Given the description of an element on the screen output the (x, y) to click on. 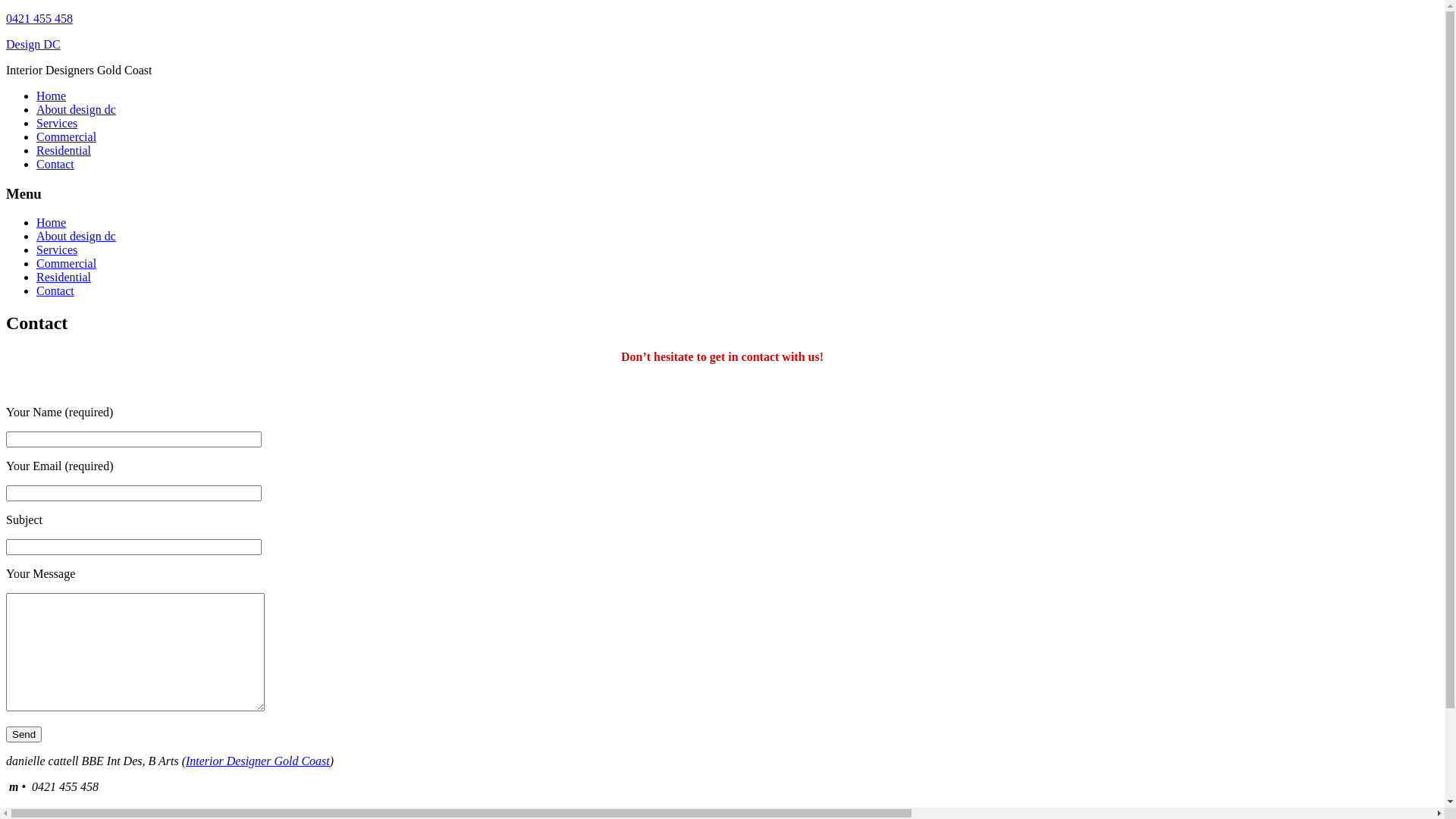
Commercial Element type: text (66, 263)
About design dc Element type: text (76, 235)
Services Element type: text (56, 122)
Residential Element type: text (63, 150)
Residential Element type: text (63, 276)
Send Element type: text (23, 734)
Contact Element type: text (55, 163)
Commercial Element type: text (66, 136)
About design dc Element type: text (76, 109)
Design DC Element type: text (33, 43)
0421 455 458 Element type: text (39, 18)
Home Element type: text (50, 222)
Contact Element type: text (55, 290)
Services Element type: text (56, 249)
Interior Designer Gold Coast Element type: text (257, 760)
Home Element type: text (50, 95)
